Given the description of an element on the screen output the (x, y) to click on. 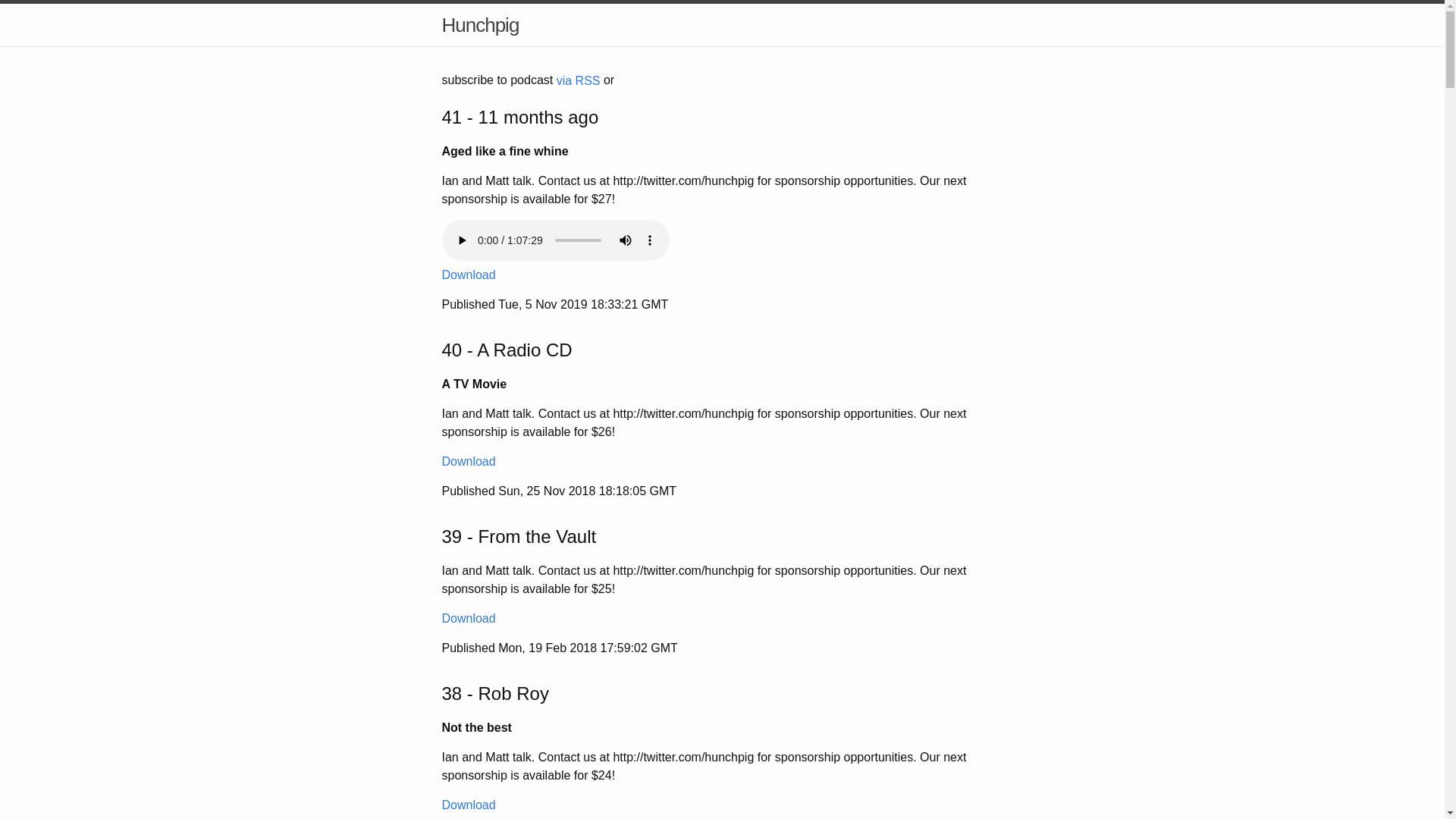
Download Element type: text (468, 274)
Download Element type: text (468, 804)
via RSS Element type: text (578, 80)
Download Element type: text (468, 461)
Download Element type: text (468, 617)
Hunchpig Element type: text (479, 24)
